Given the description of an element on the screen output the (x, y) to click on. 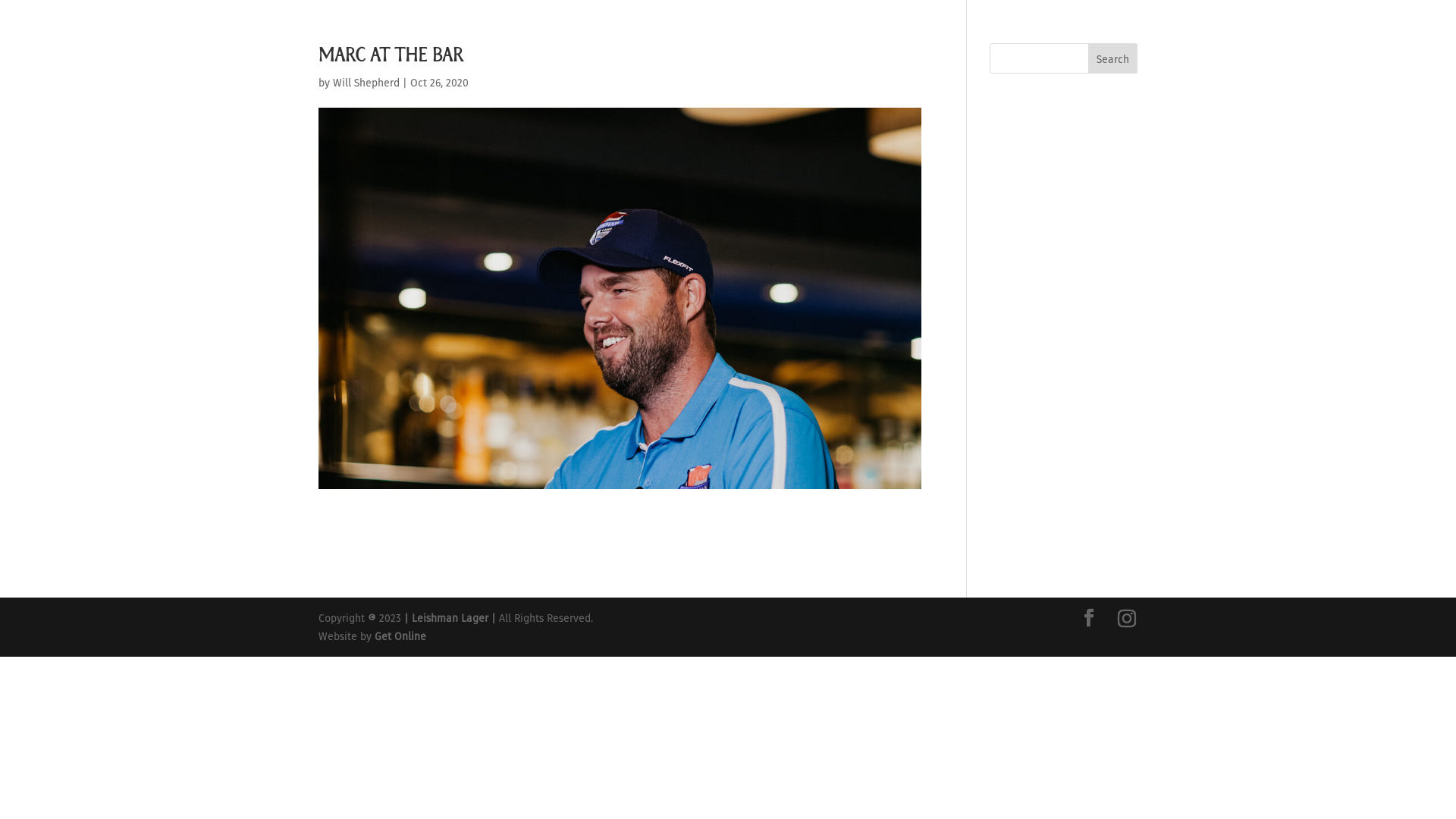
Will Shepherd Element type: text (365, 81)
Search Element type: text (1112, 58)
Get Online Element type: text (400, 635)
